Given the description of an element on the screen output the (x, y) to click on. 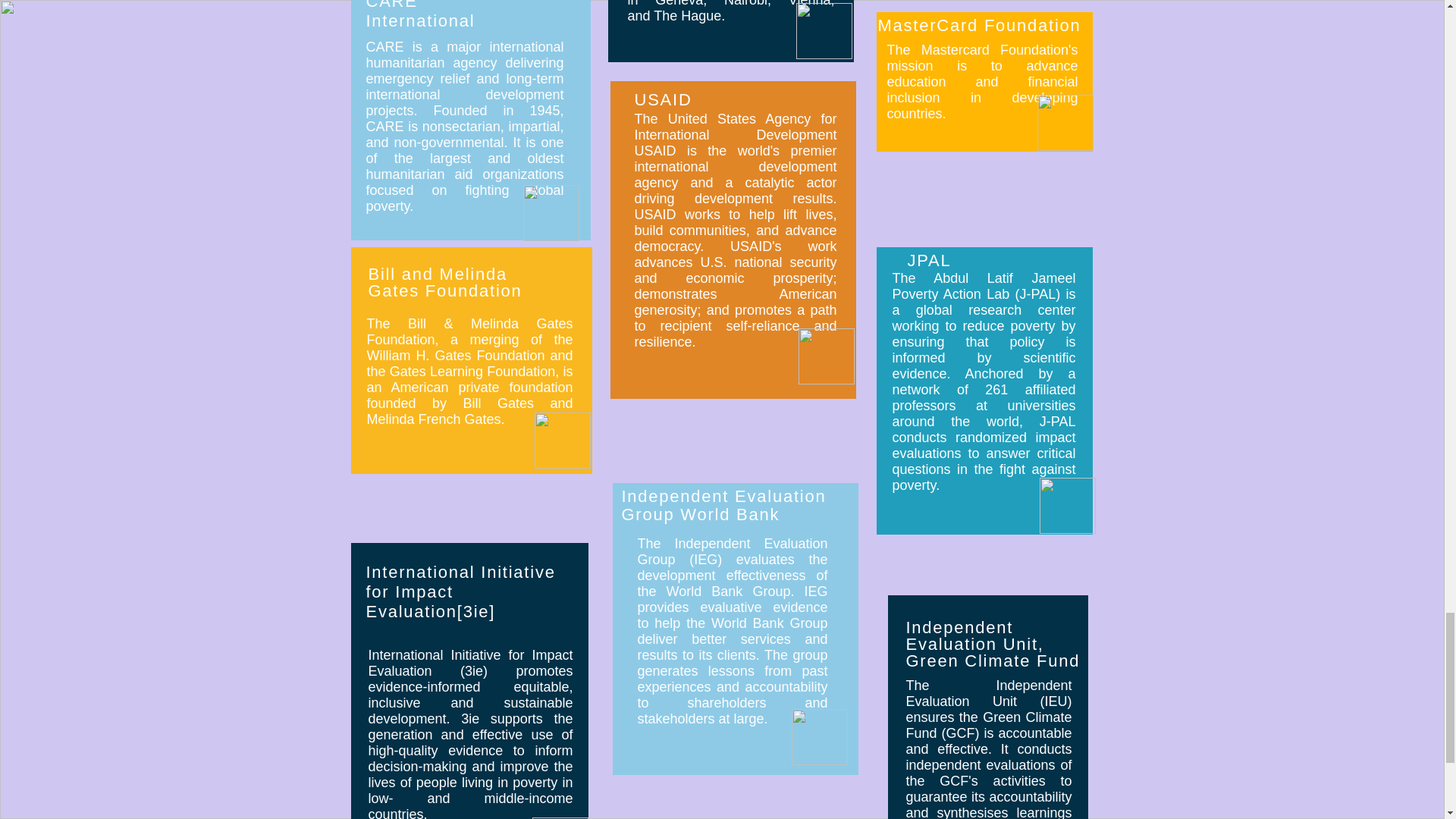
Geneva (679, 3)
The Hague (686, 15)
Nairobi (745, 3)
Vienna (810, 3)
